Given the description of an element on the screen output the (x, y) to click on. 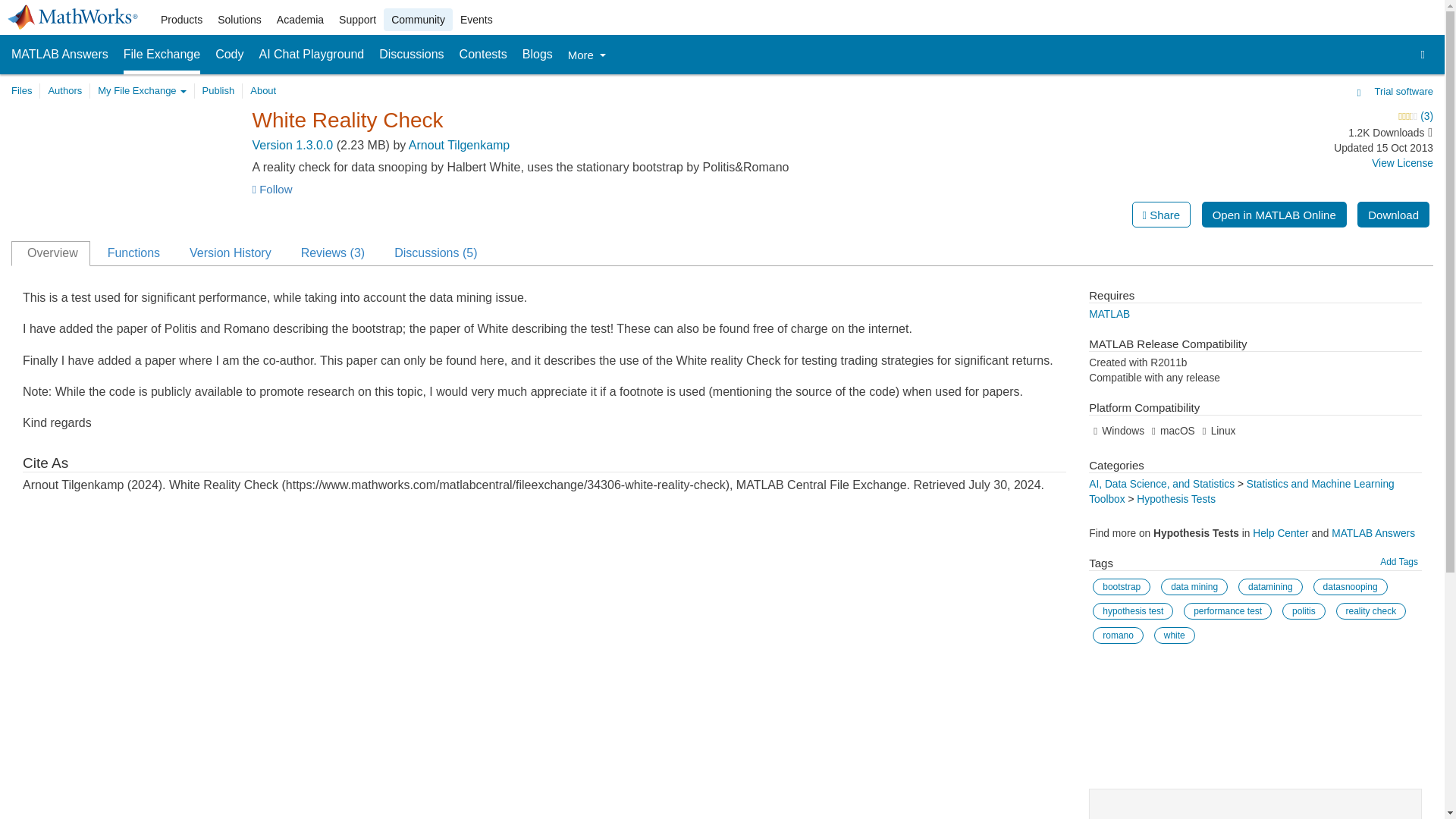
Events (476, 19)
Community (418, 19)
AI Chat Playground (312, 54)
Cody (229, 54)
Contests (483, 54)
Download (1392, 214)
File Exchange (161, 54)
Support (357, 19)
Products (180, 19)
3.30 out of 5 stars (1293, 116)
MATLAB Answers (59, 54)
Academia (300, 19)
More (586, 54)
Discussions (411, 54)
Blogs (537, 54)
